Given the description of an element on the screen output the (x, y) to click on. 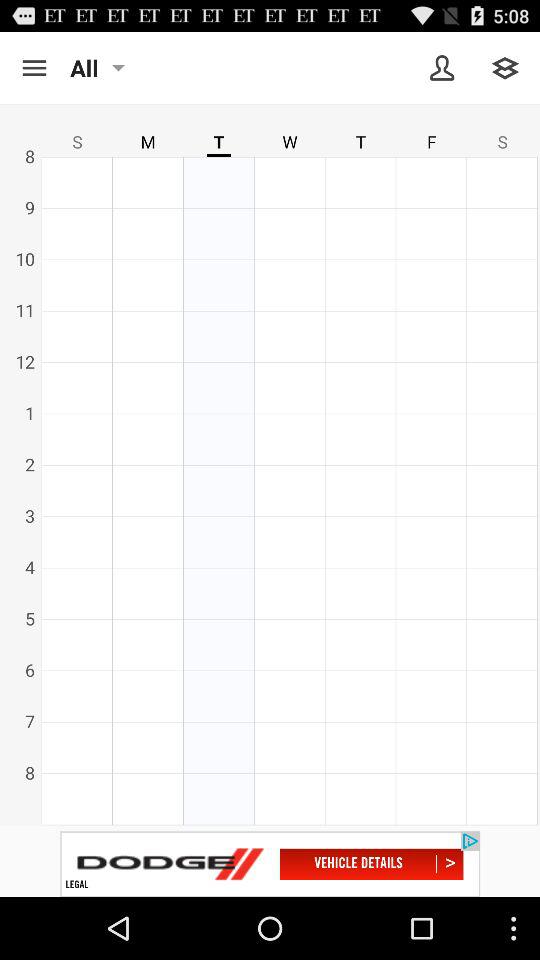
open advertisements (270, 864)
